Given the description of an element on the screen output the (x, y) to click on. 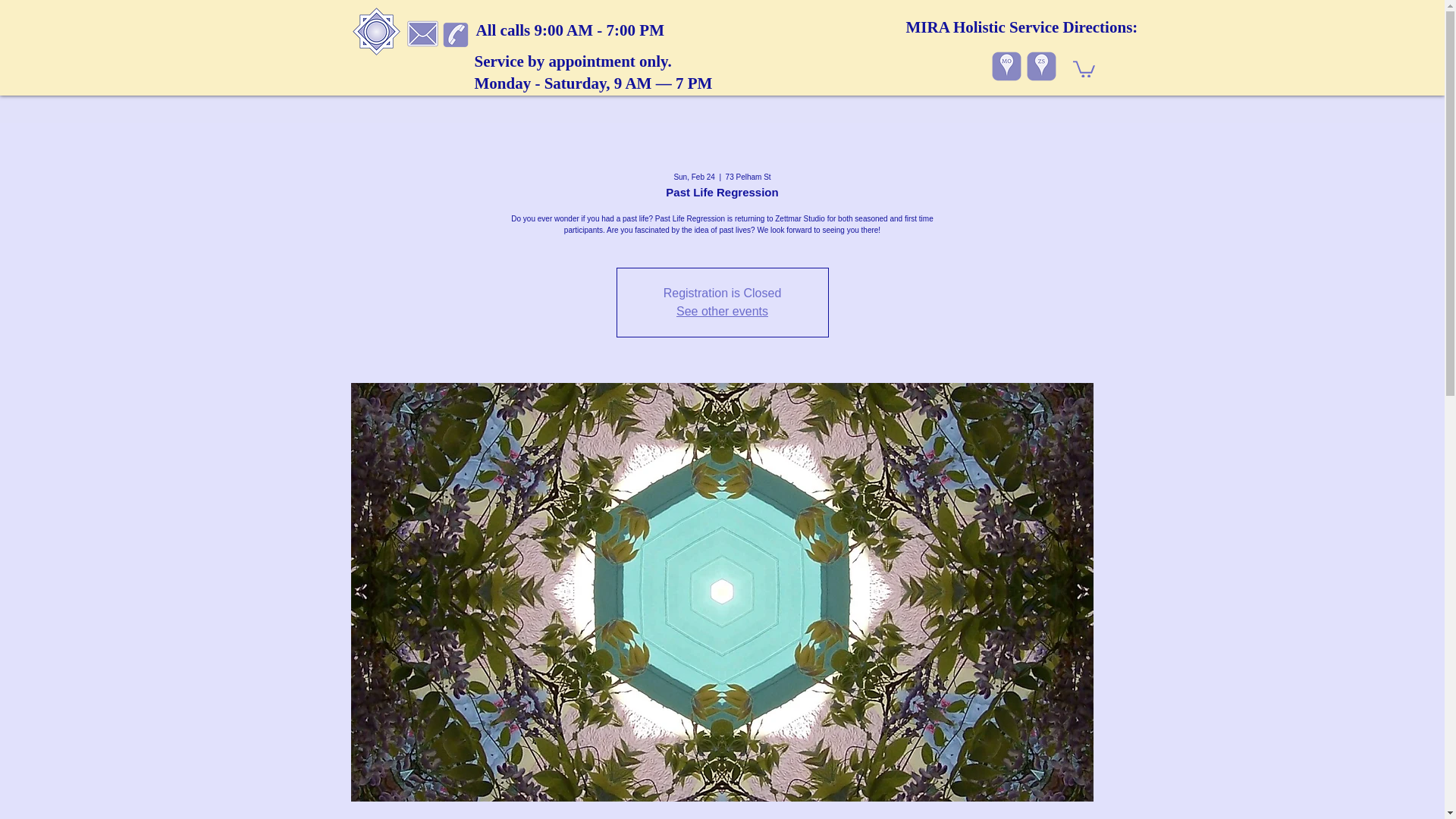
See other events (722, 310)
